Given the description of an element on the screen output the (x, y) to click on. 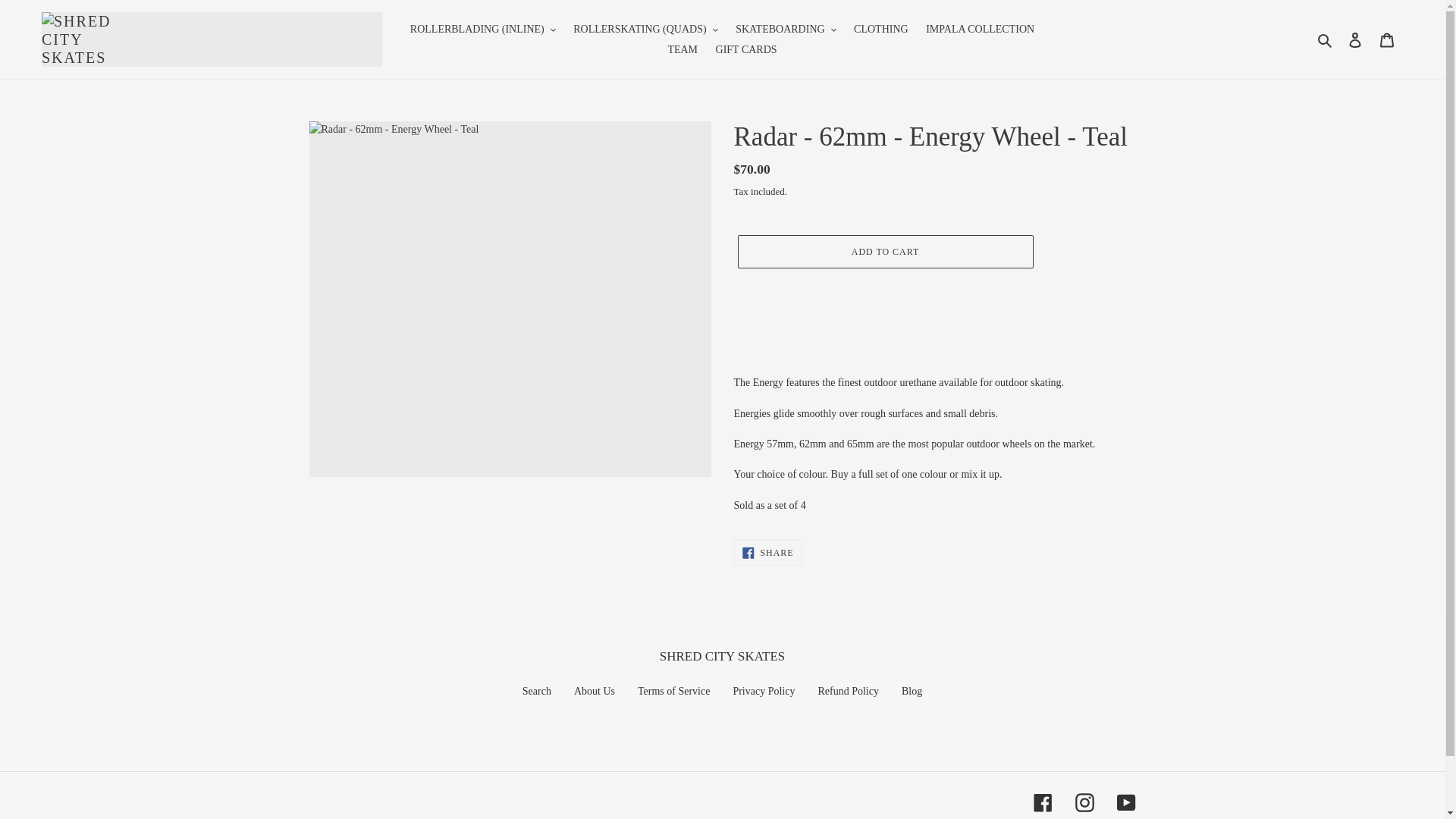
CLOTHING (880, 28)
GIFT CARDS (745, 49)
SKATEBOARDING (785, 28)
IMPALA COLLECTION (980, 28)
TEAM (681, 49)
